Given the description of an element on the screen output the (x, y) to click on. 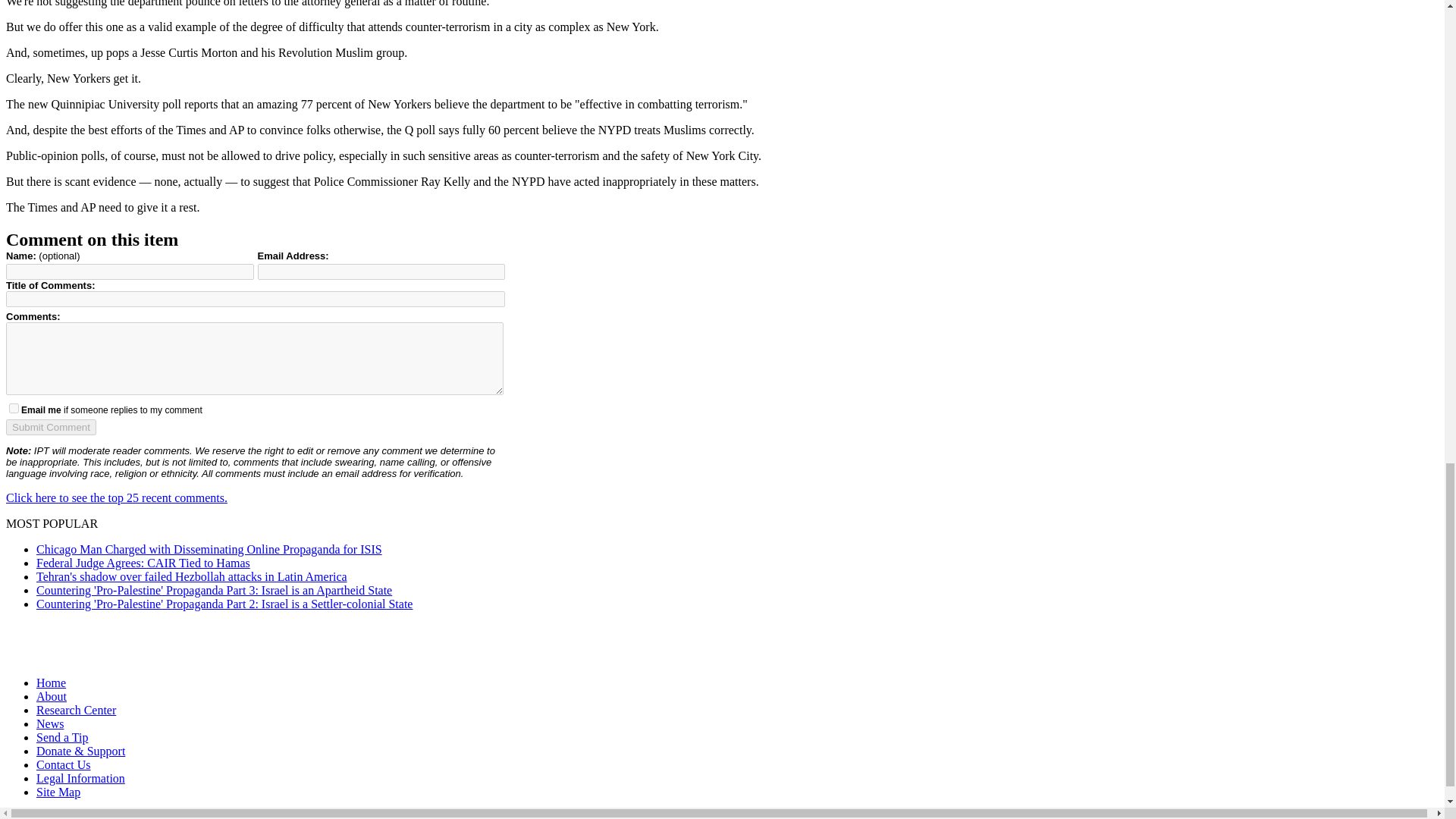
About (51, 696)
Home (50, 682)
Research Center (76, 709)
Click here to see the top 25 recent comments. (116, 497)
Submit Comment (50, 426)
News (50, 723)
Send a Tip (61, 737)
1 (13, 408)
Federal Judge Agrees: CAIR Tied to Hamas (143, 562)
